Given the description of an element on the screen output the (x, y) to click on. 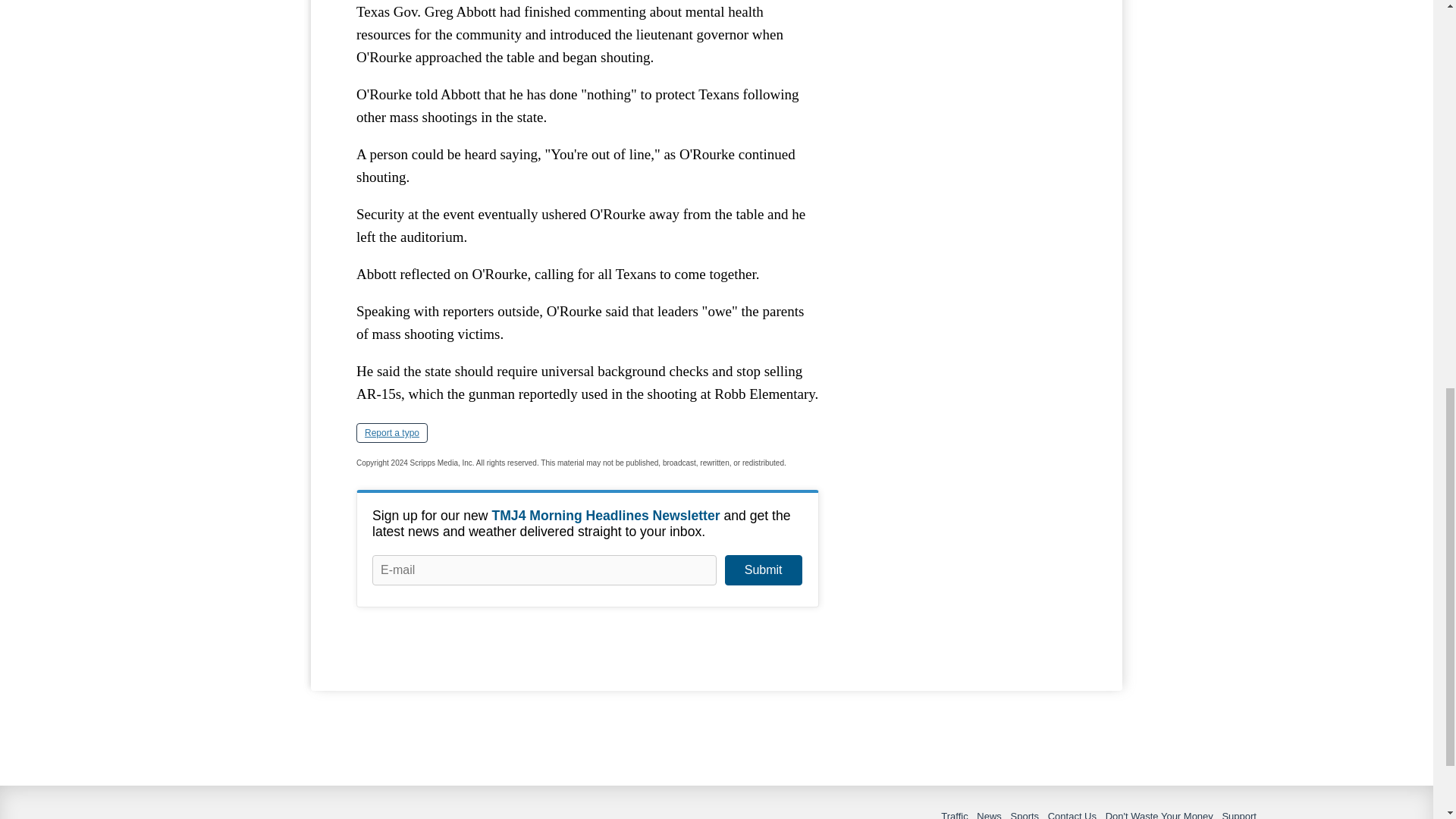
Submit (763, 570)
